Given the description of an element on the screen output the (x, y) to click on. 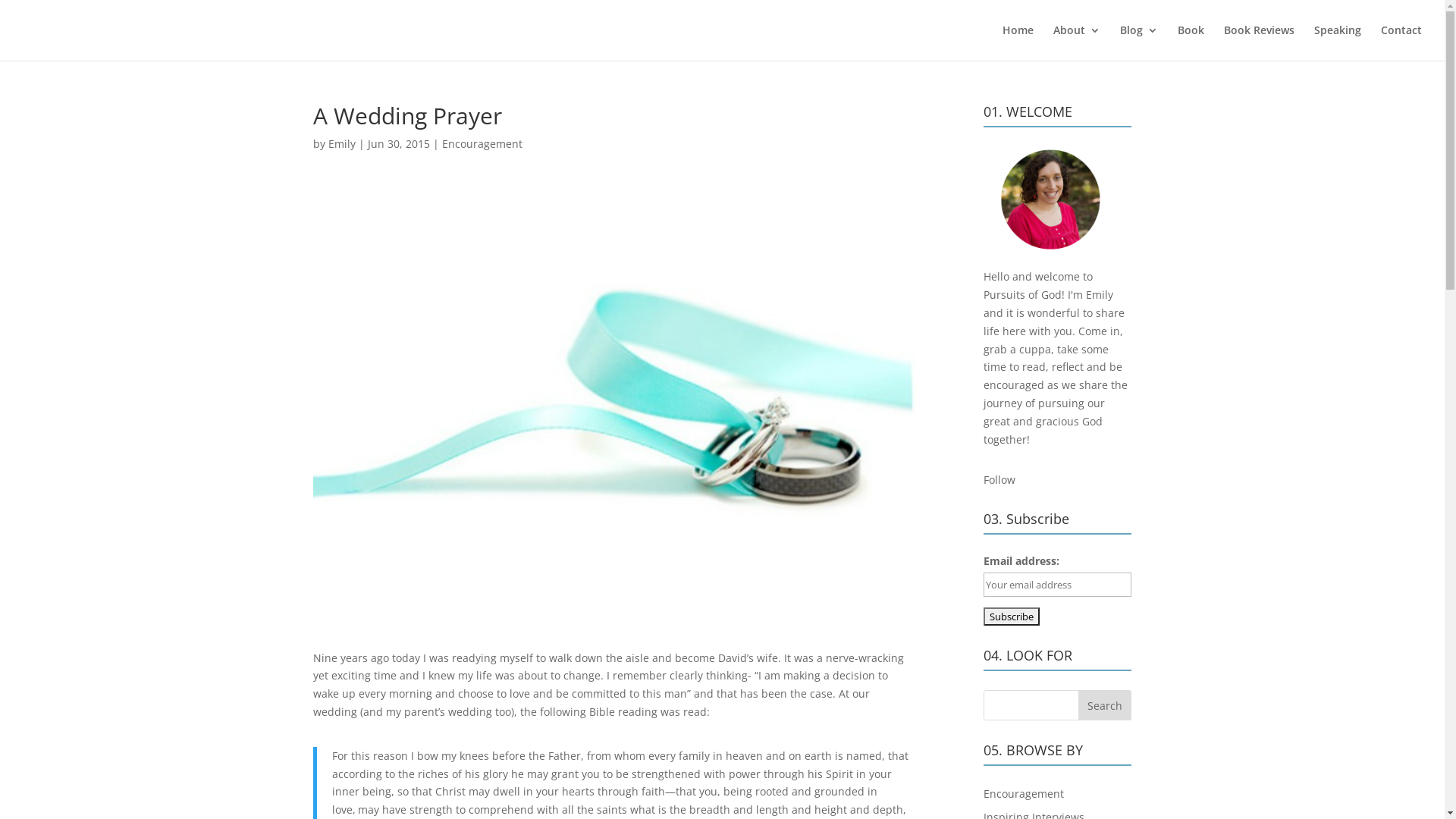
Book Reviews Element type: text (1258, 42)
Speaking Element type: text (1337, 42)
Follow Element type: text (999, 479)
Encouragement Element type: text (481, 143)
Blog Element type: text (1138, 42)
About Element type: text (1076, 42)
Contact Element type: text (1400, 42)
Book Element type: text (1190, 42)
Home Element type: text (1017, 42)
Search Element type: text (1104, 705)
Subscribe Element type: text (1011, 616)
Encouragement Element type: text (1023, 793)
Emily Element type: text (340, 143)
